Given the description of an element on the screen output the (x, y) to click on. 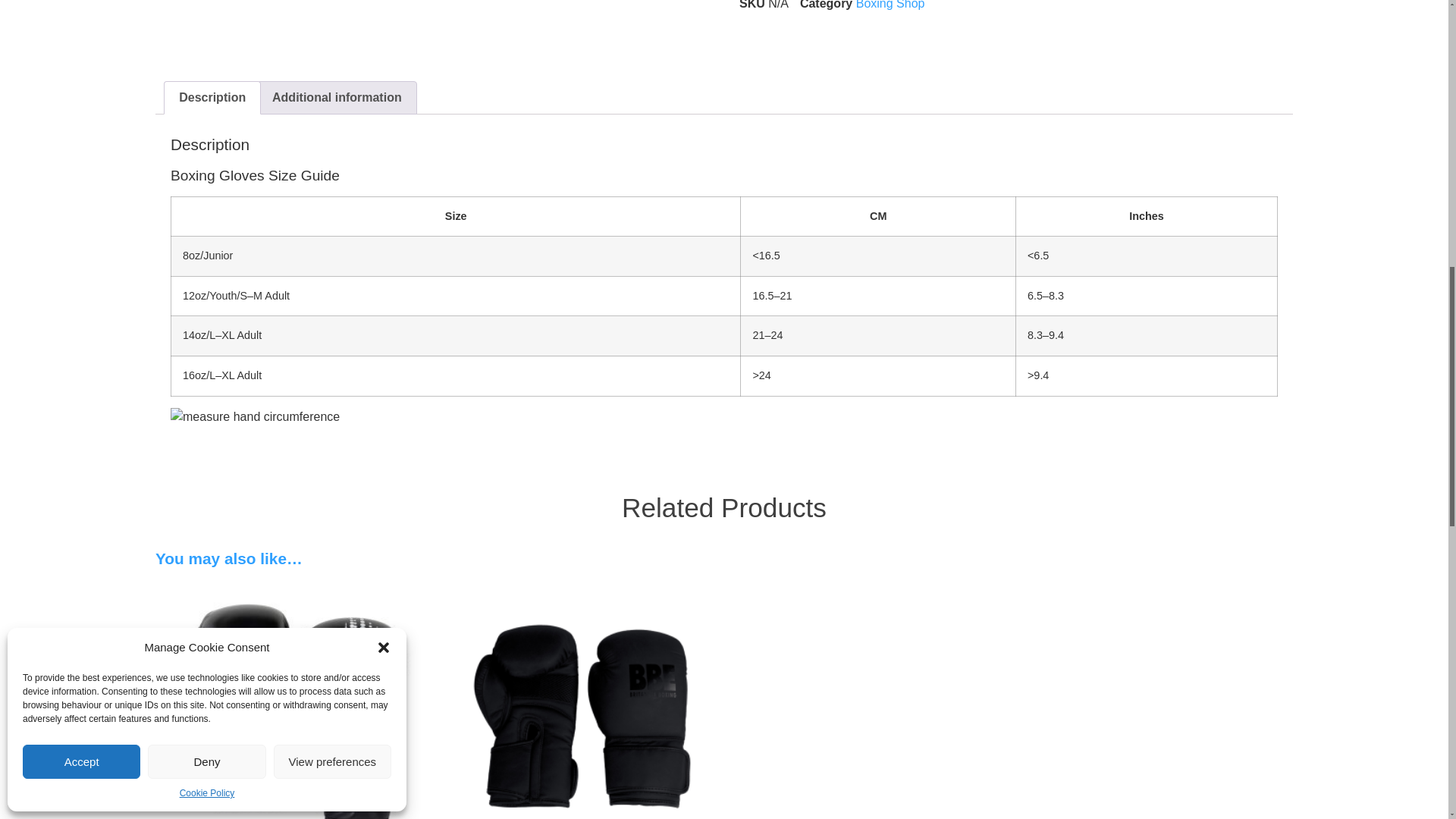
measure hand circumference (254, 416)
